Given the description of an element on the screen output the (x, y) to click on. 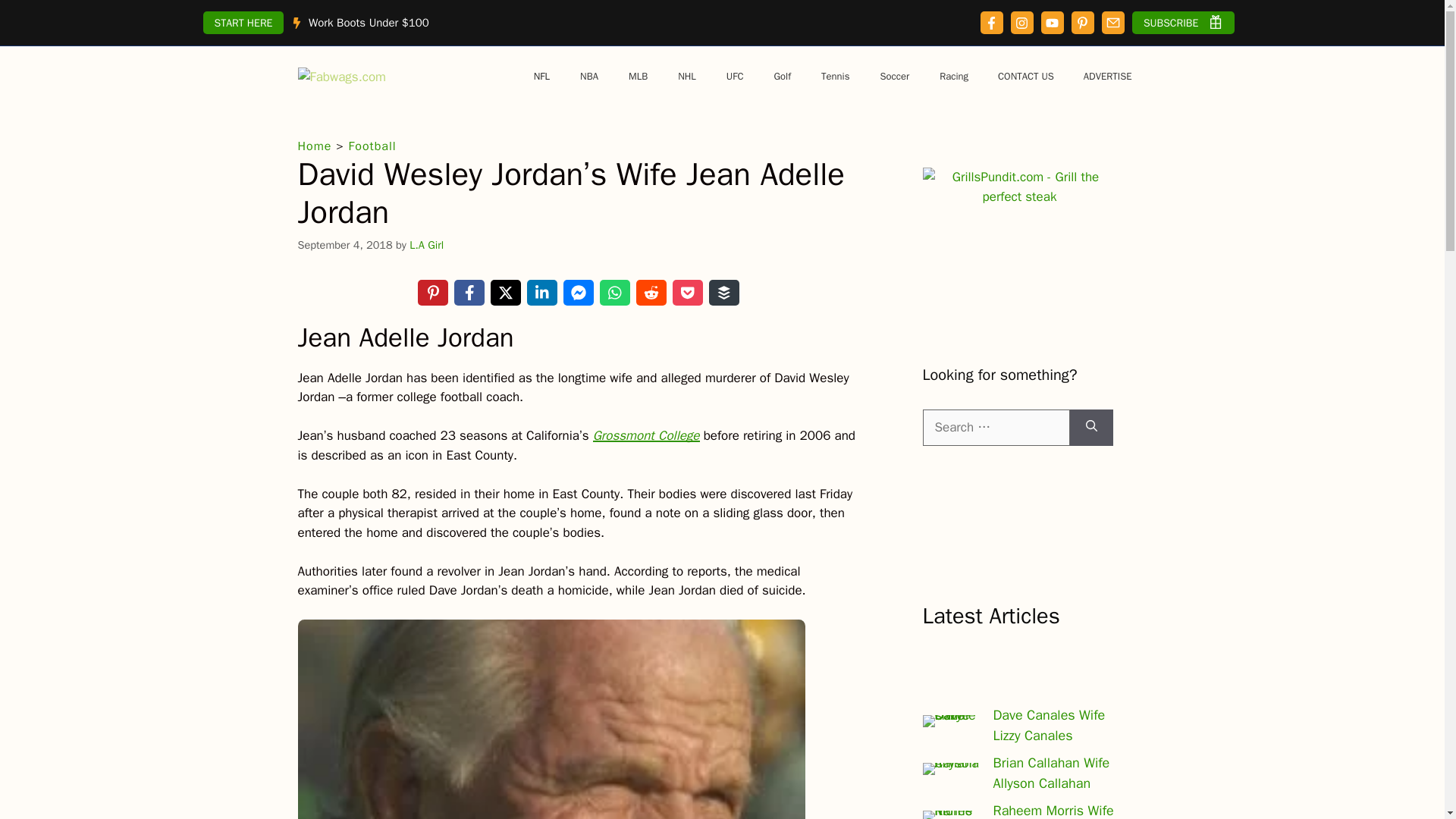
CONTACT US (1025, 76)
Tennis (835, 76)
MLB (637, 76)
ADVERTISE (1107, 76)
Soccer (894, 76)
Football (372, 145)
Search for: (994, 427)
SUBSCRIBE (1183, 22)
Racing (954, 76)
grillspundit (1018, 186)
